Given the description of an element on the screen output the (x, y) to click on. 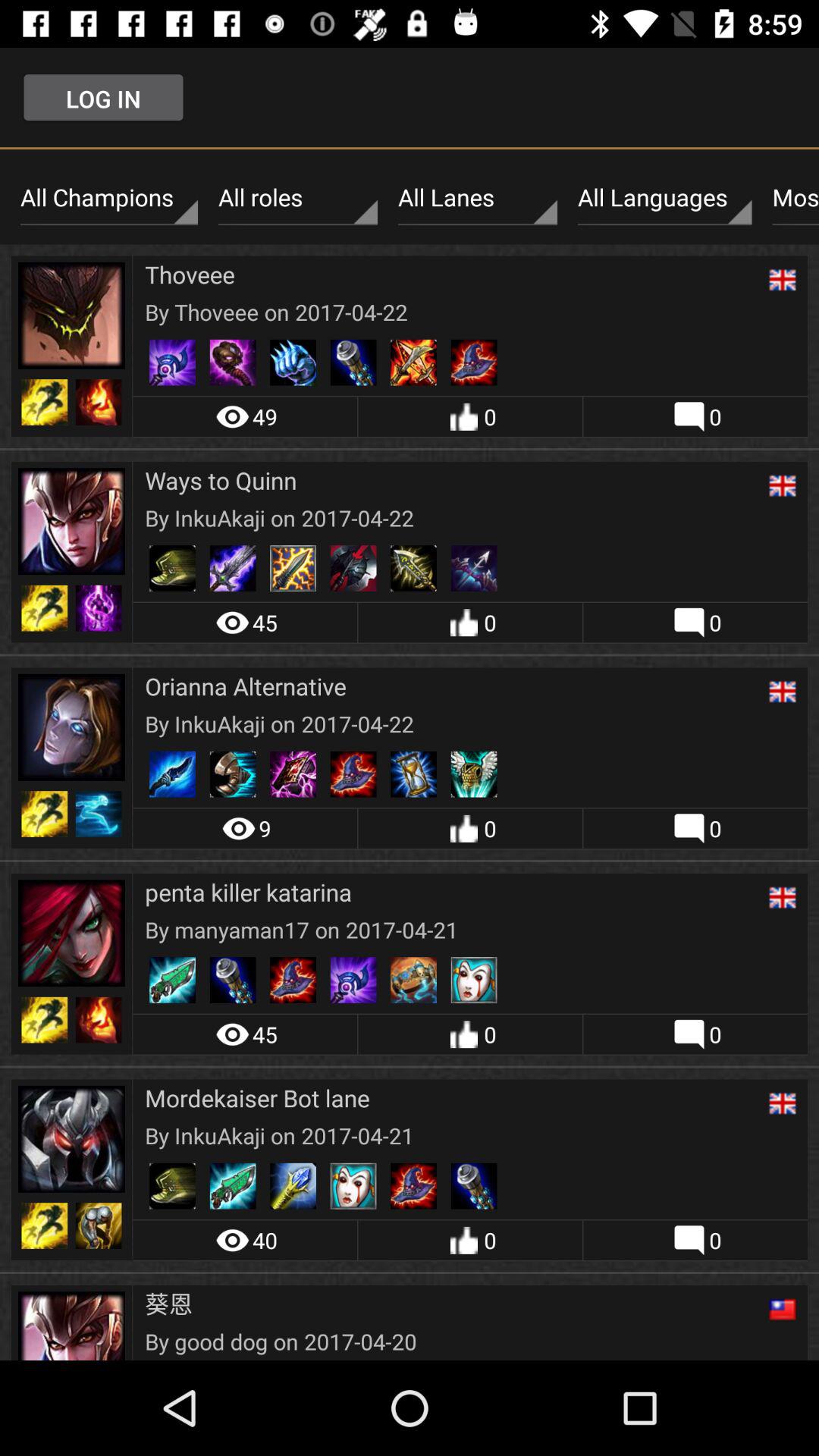
press the item above the thoveee icon (477, 198)
